Given the description of an element on the screen output the (x, y) to click on. 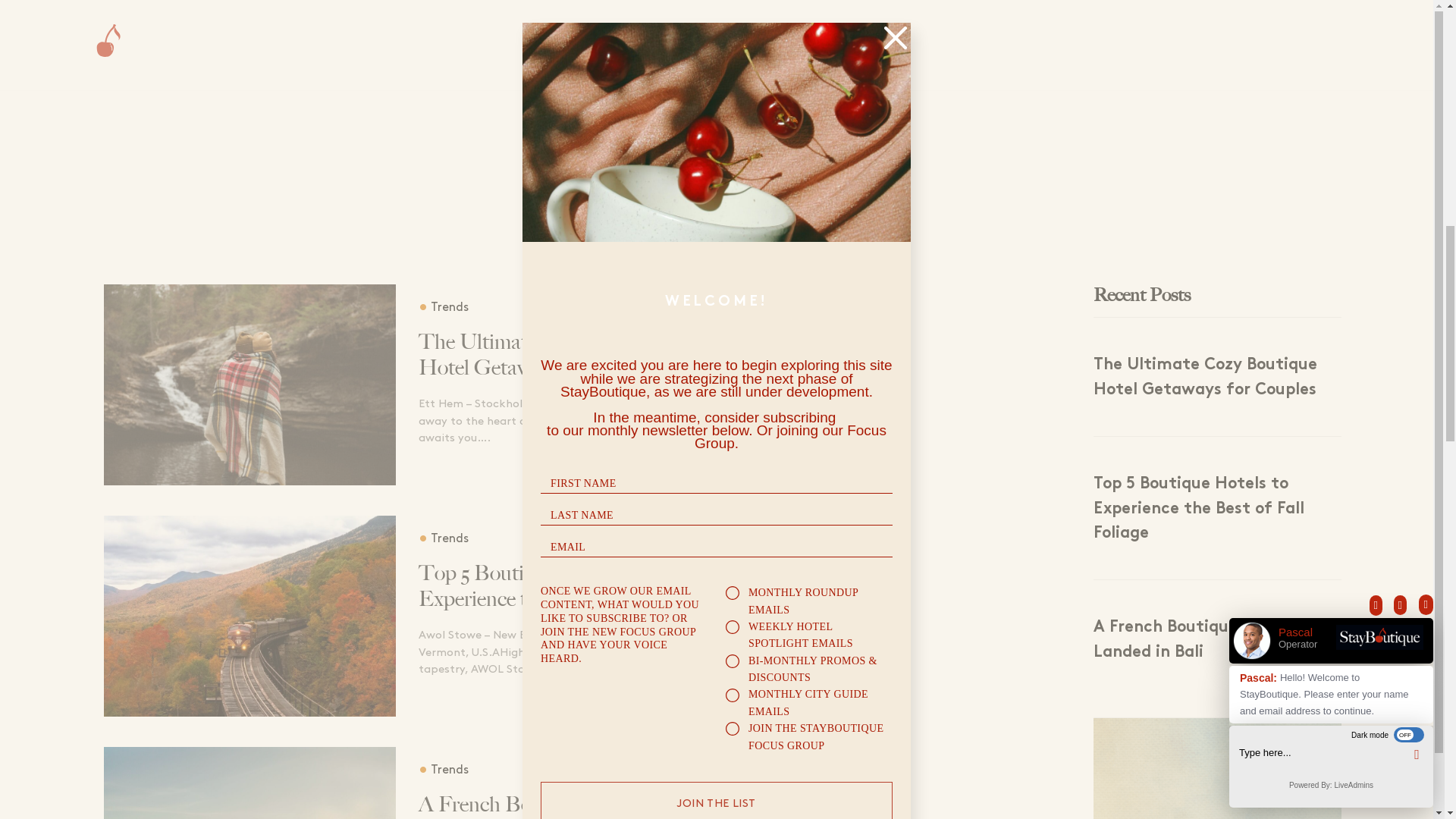
A French Boutique Hotel Has Landed in Bali (570, 805)
Trends (443, 769)
Trends (443, 538)
Trends (443, 307)
The Ultimate Cozy Boutique Hotel Getaways for Couples (570, 354)
Top 5 Boutique Hotels to Experience the Best of Fall Foliage (570, 585)
